Given the description of an element on the screen output the (x, y) to click on. 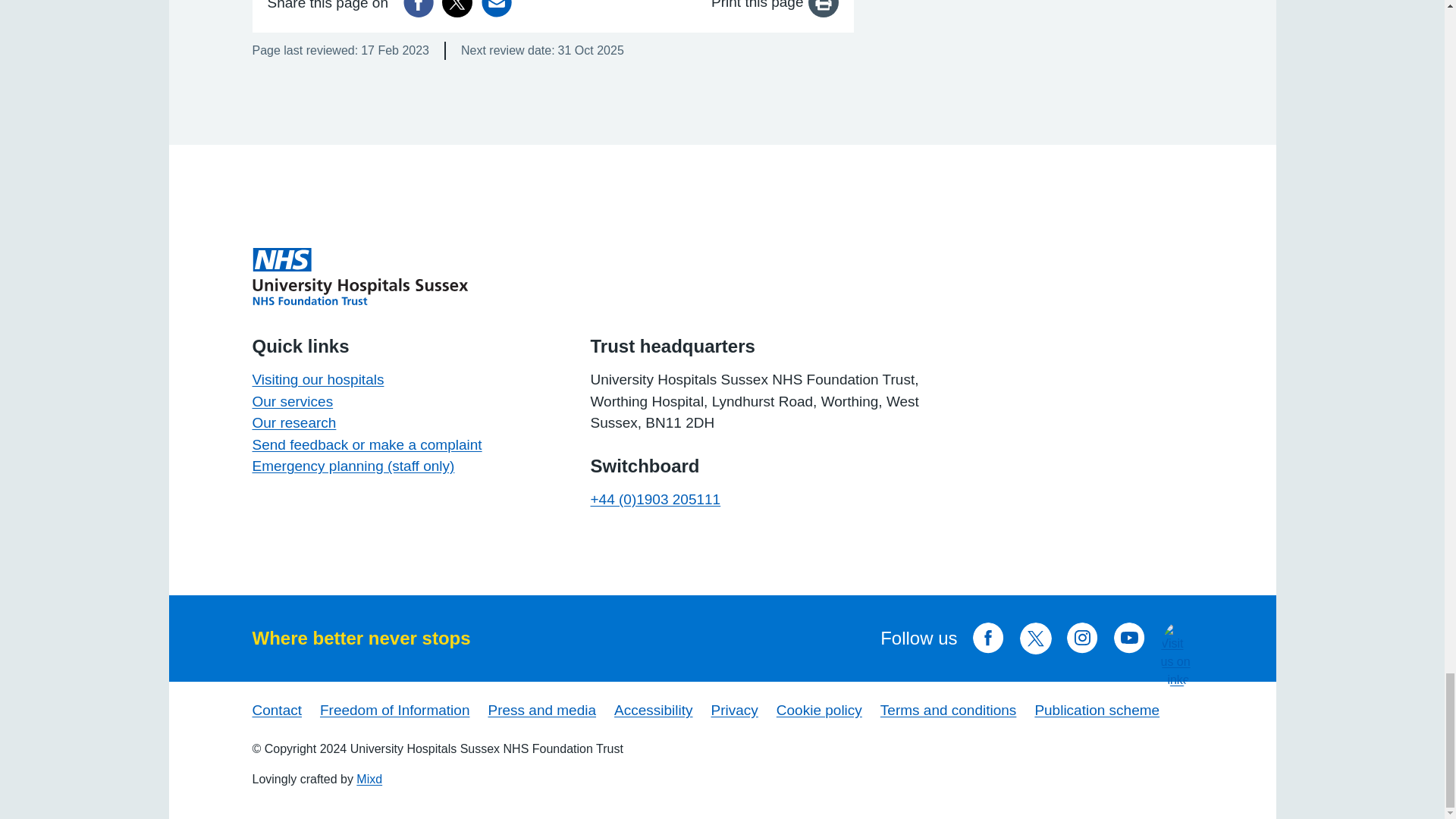
Share via Email (496, 8)
Excellence as our standard (359, 276)
Share on Twitter (456, 8)
Share on Facebook (418, 8)
